Given the description of an element on the screen output the (x, y) to click on. 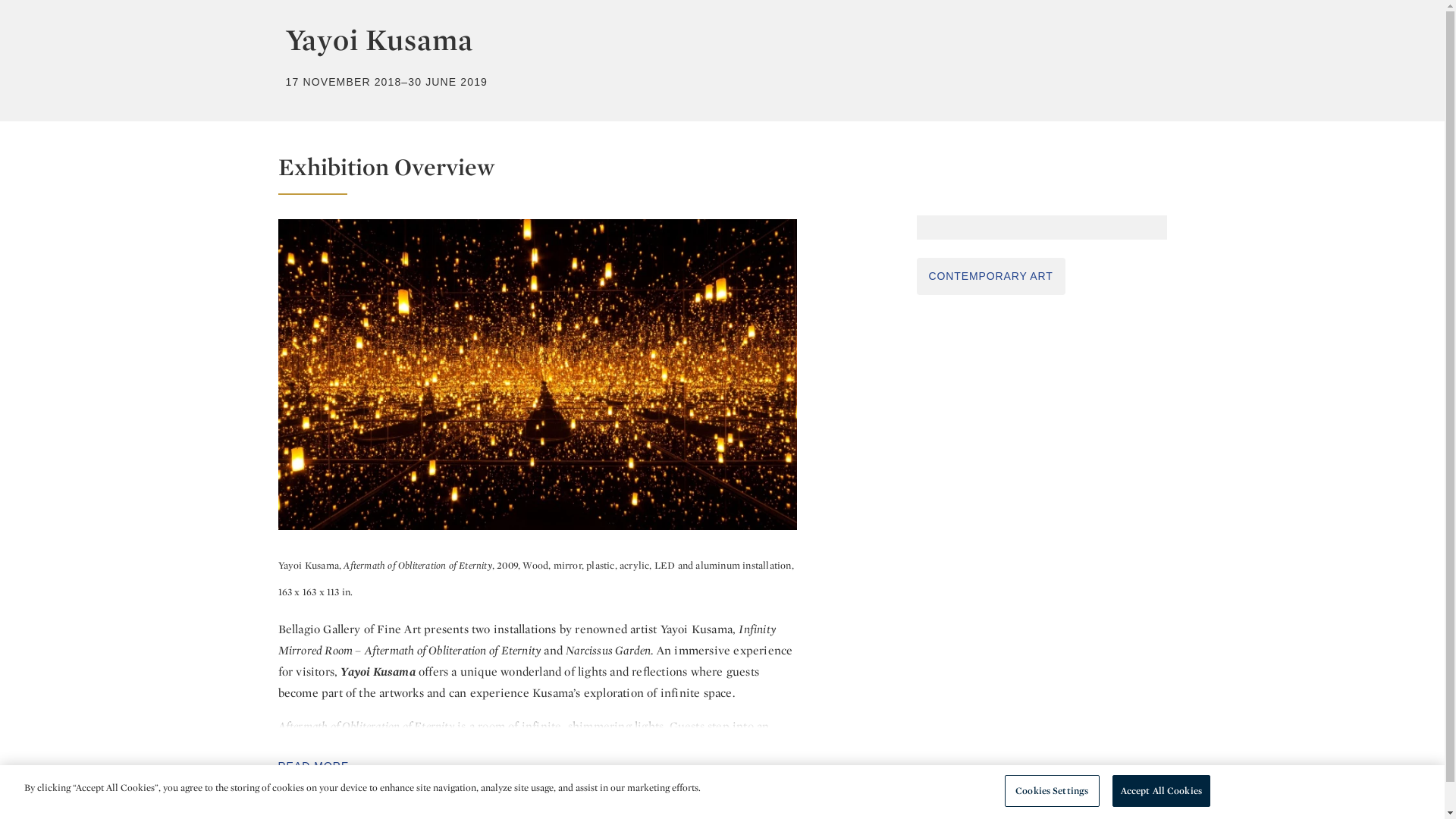
Accept All Cookies (1160, 790)
CONTEMPORARY ART (989, 275)
Cookies Settings (1051, 790)
